Given the description of an element on the screen output the (x, y) to click on. 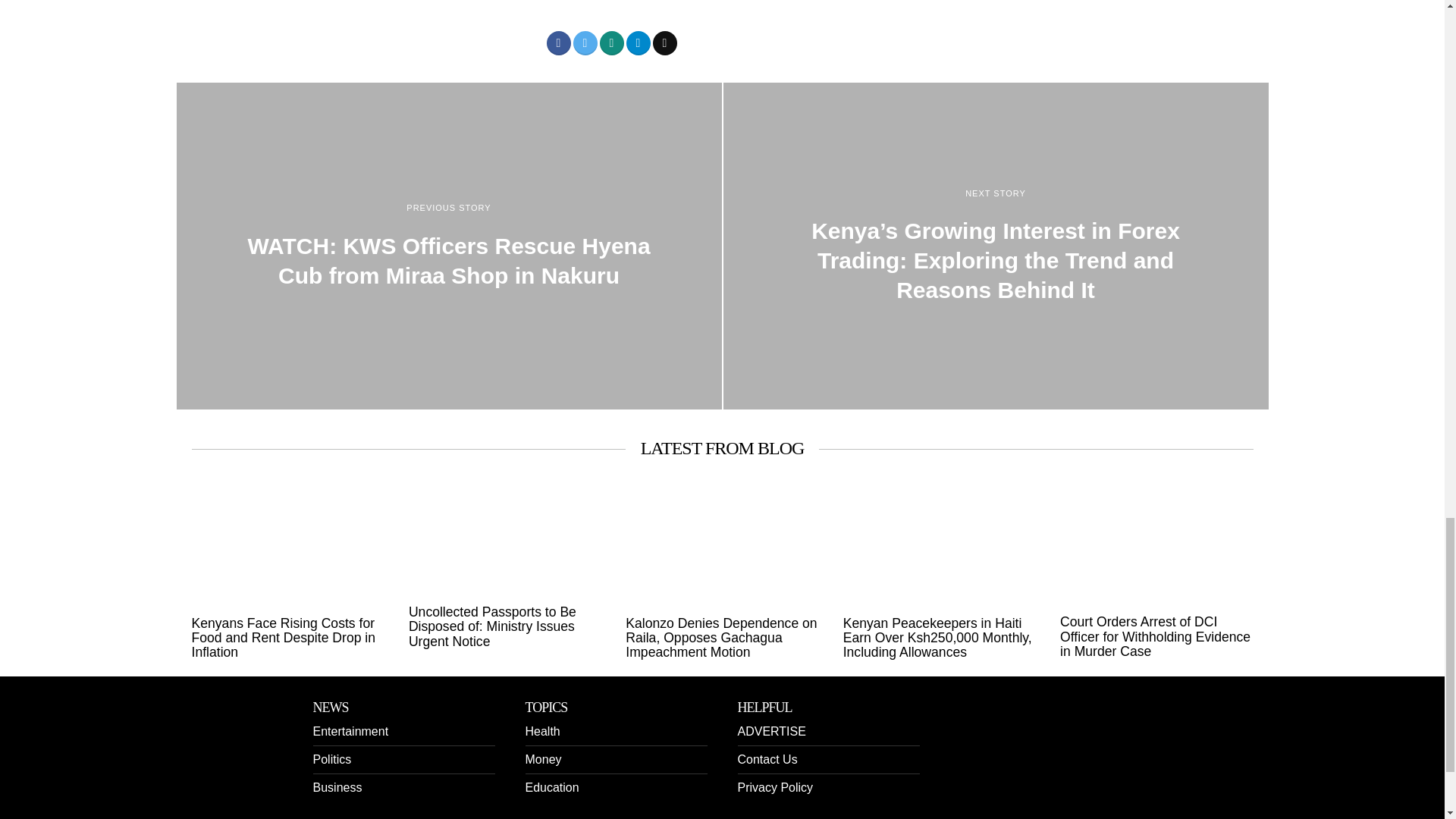
ADVERTISE (770, 730)
Health (541, 730)
Entertainment (350, 730)
Politics (331, 758)
Education (551, 787)
Business (337, 787)
